Given the description of an element on the screen output the (x, y) to click on. 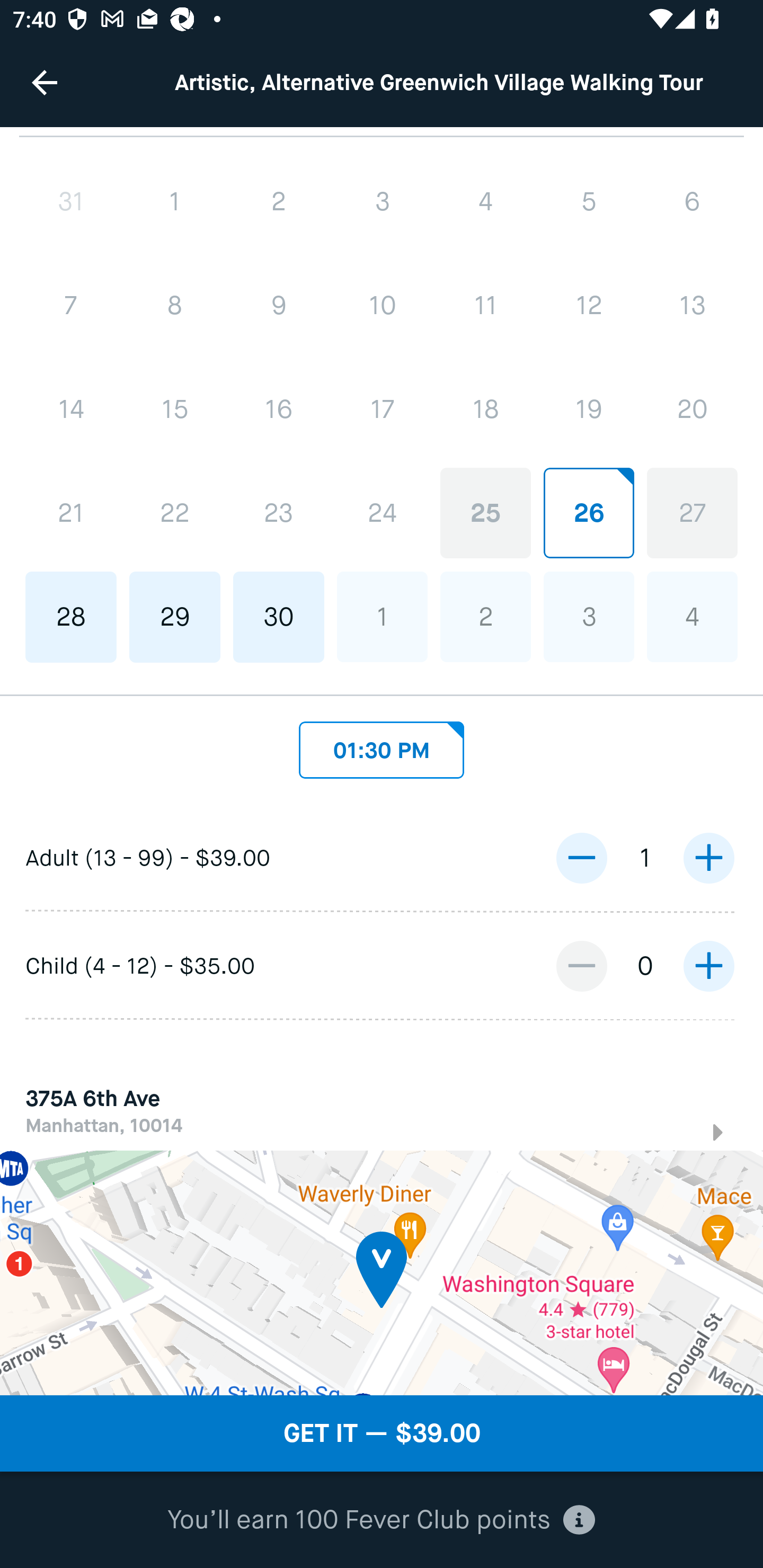
Navigate up (44, 82)
31 (70, 201)
1 (174, 201)
2 (278, 201)
3 (382, 201)
4 (485, 201)
5 (588, 201)
6 (692, 201)
7 (70, 305)
8 (174, 305)
9 (278, 305)
10 (382, 305)
11 (485, 305)
12 (588, 305)
13 (692, 305)
14 (70, 408)
15 (174, 408)
16 (278, 408)
17 (382, 408)
18 (485, 408)
19 (588, 408)
20 (692, 408)
21 (70, 512)
22 (174, 512)
23 (278, 512)
24 (382, 512)
25 (485, 512)
26 (588, 512)
27 (692, 512)
28 (70, 617)
29 (174, 617)
30 (278, 617)
1 (382, 616)
2 (485, 616)
3 (588, 616)
4 (692, 616)
01:30 PM (381, 745)
decrease (581, 858)
increase (708, 858)
decrease (581, 966)
increase (708, 966)
Google Map Map Marker (381, 1272)
GET IT — $39.00 (381, 1433)
You’ll earn 100 Fever Club points (381, 1519)
